Given the description of an element on the screen output the (x, y) to click on. 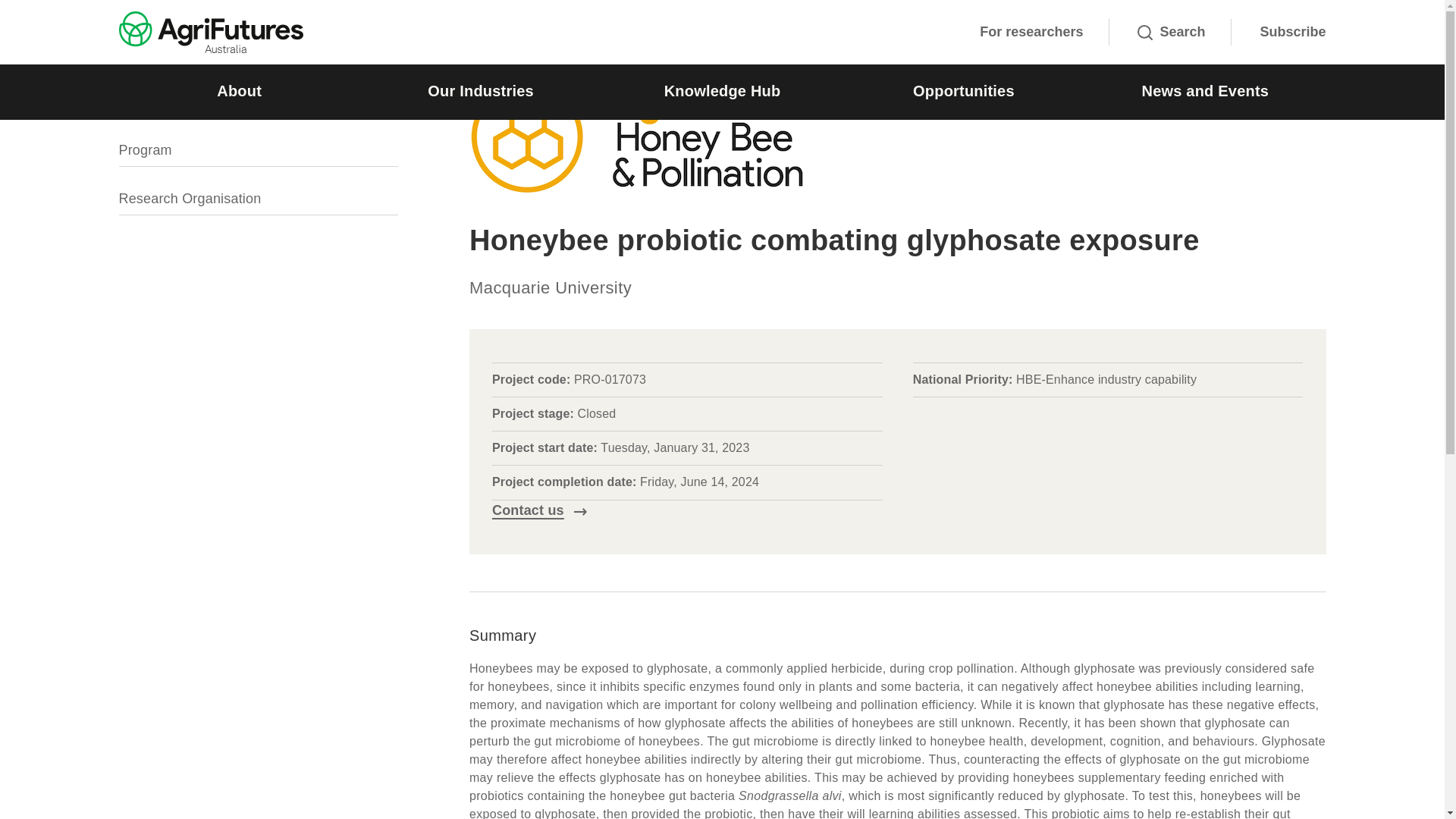
Program (144, 150)
Opportunities (963, 91)
Search (1171, 31)
Summary (147, 101)
Subscribe (1291, 31)
Knowledge Hub (722, 91)
Our Industries (480, 91)
Research Organisation (188, 198)
For researchers (1031, 31)
About (238, 91)
